Given the description of an element on the screen output the (x, y) to click on. 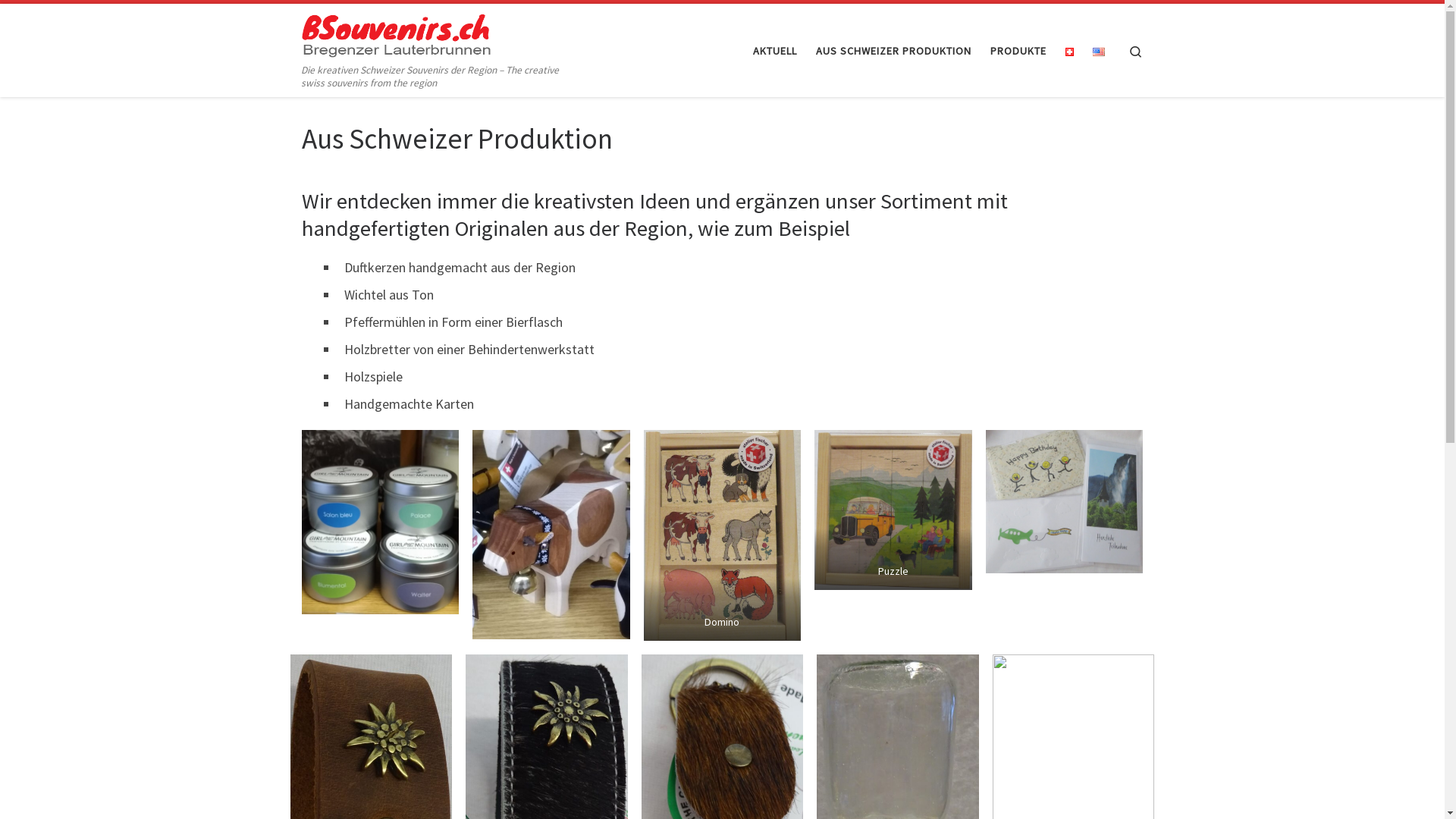
AKTUELL Element type: text (774, 50)
AUS SCHWEIZER PRODUKTION Element type: text (892, 50)
PRODUKTE Element type: text (1018, 50)
Search Element type: text (1135, 50)
Skip to content Element type: text (57, 21)
